Given the description of an element on the screen output the (x, y) to click on. 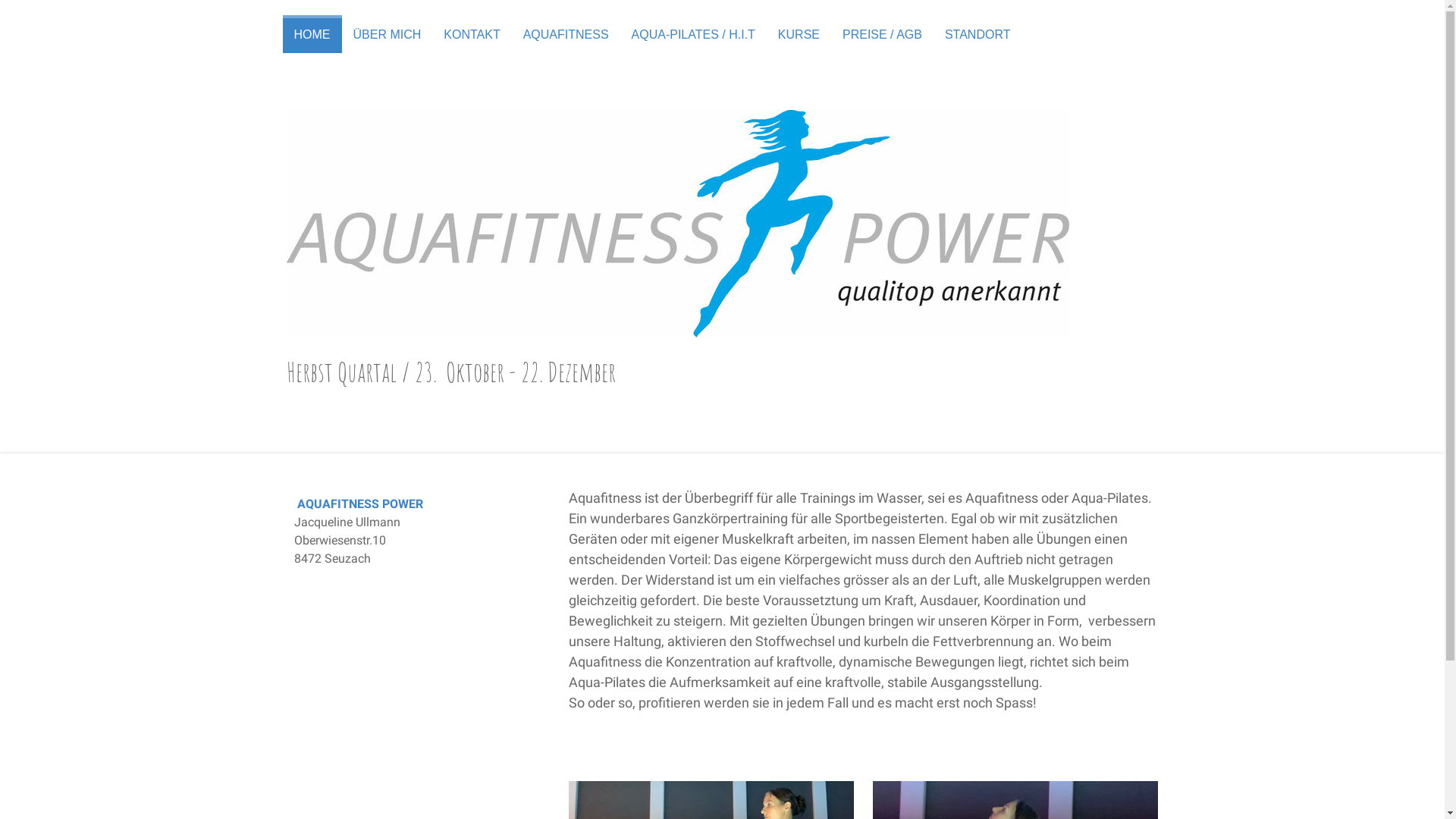
KURSE Element type: text (798, 34)
AQUA-PILATES / H.I.T Element type: text (693, 34)
HOME Element type: text (311, 34)
Herbst Quartal / 23.  Oktober - 22. Dezember Element type: text (722, 371)
KONTAKT Element type: text (471, 34)
AQUAFITNESS Element type: text (565, 34)
STANDORT Element type: text (977, 34)
PREISE / AGB Element type: text (882, 34)
